Given the description of an element on the screen output the (x, y) to click on. 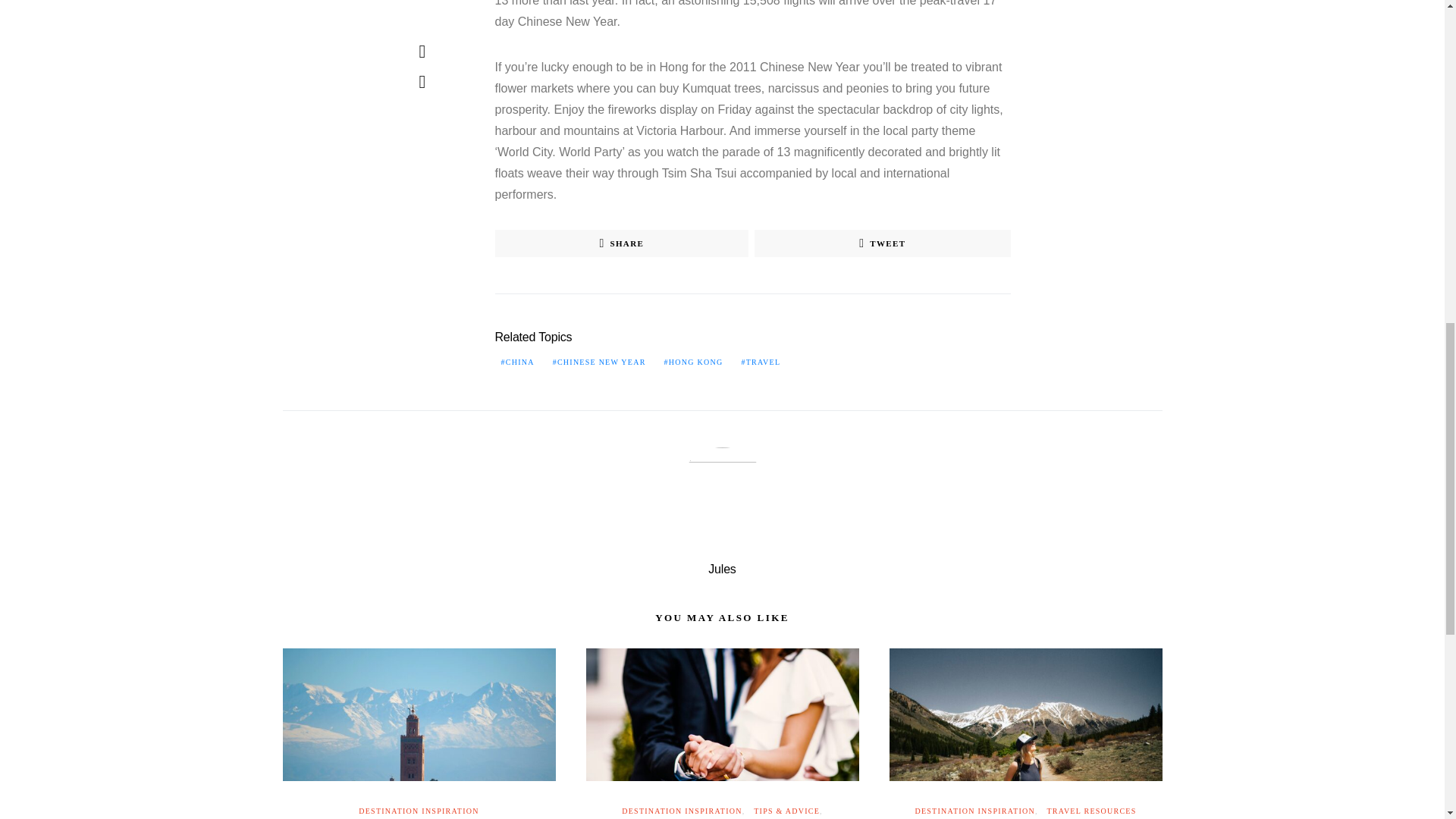
TWEET (882, 243)
CHINESE NEW YEAR (599, 361)
CHINA (517, 361)
SHARE (621, 243)
